Given the description of an element on the screen output the (x, y) to click on. 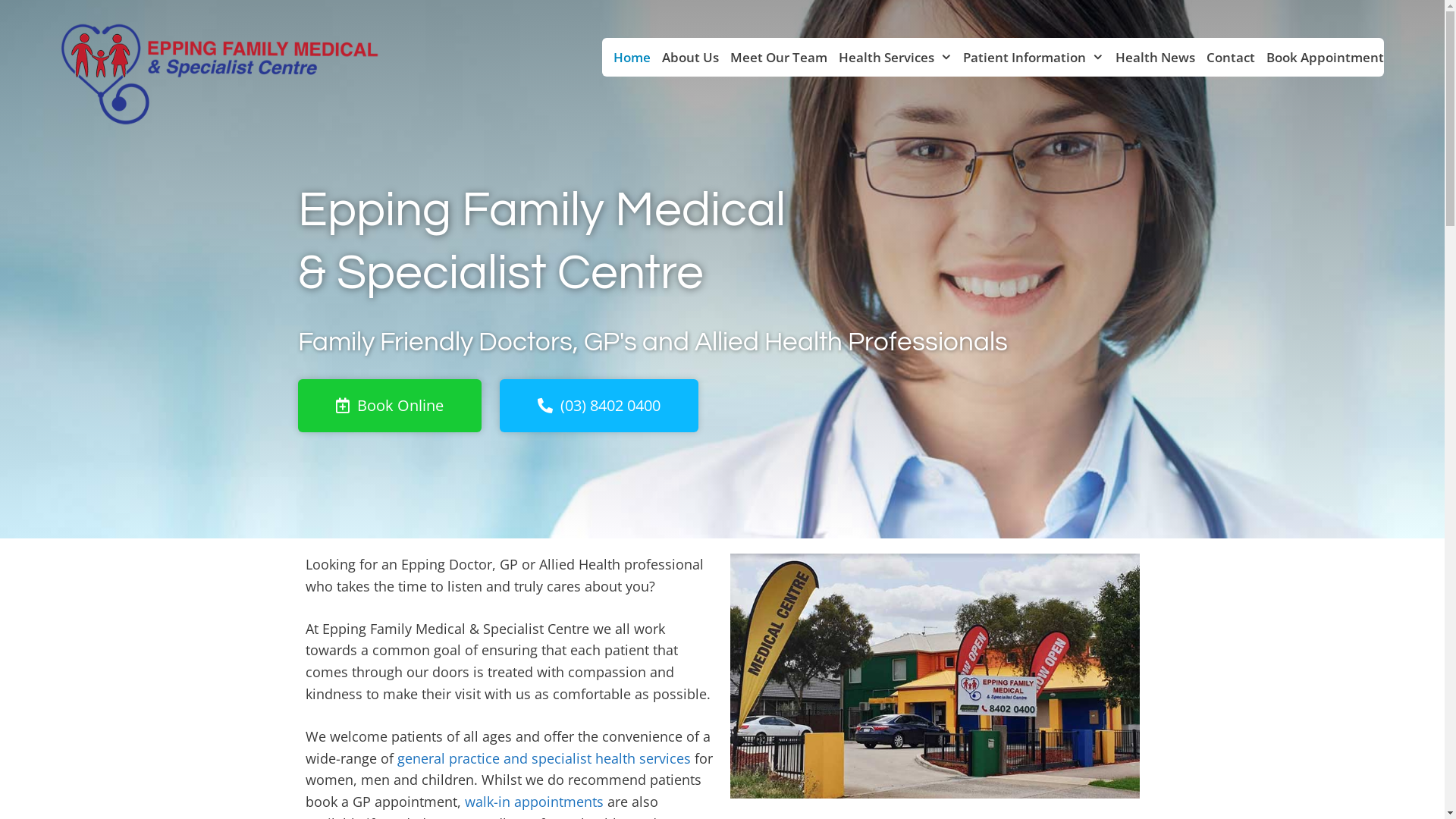
Book Online Element type: text (388, 405)
Epping Family Medical & Specialist Centre Element type: hover (219, 73)
Health Services Element type: text (889, 56)
Contact Element type: text (1225, 56)
Health News Element type: text (1149, 56)
Epping Family Medical & Specialist Centre Element type: hover (219, 72)
general practice and specialist health services Element type: text (543, 758)
walk-in appointments Element type: text (533, 801)
About Us Element type: text (684, 56)
(03) 8402 0400 Element type: text (597, 405)
Home Element type: text (626, 56)
Patient Information Element type: text (1027, 56)
Book Appointment Element type: text (1319, 56)
Meet Our Team Element type: text (772, 56)
